Given the description of an element on the screen output the (x, y) to click on. 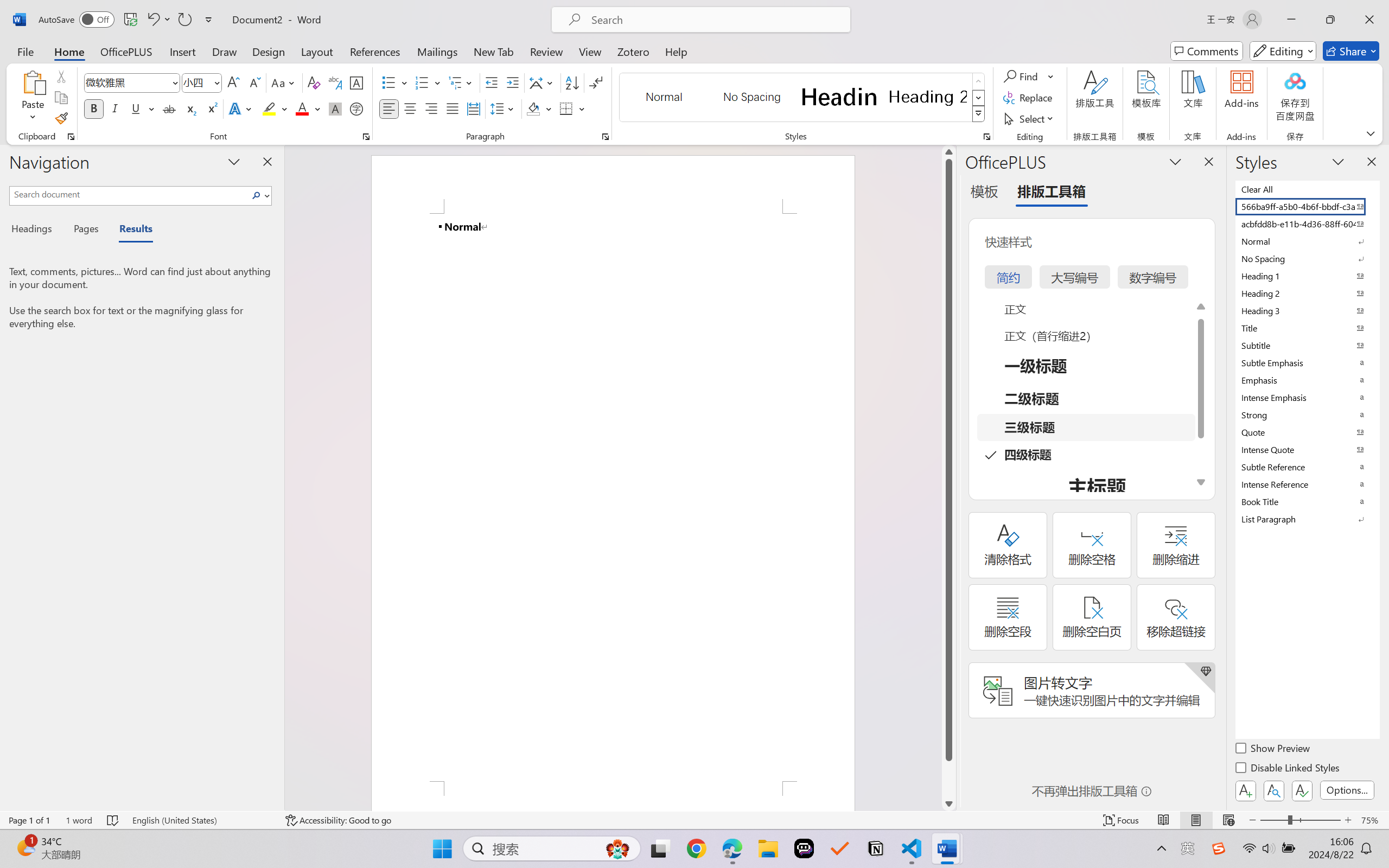
Show Preview (1273, 749)
Title (1306, 327)
Microsoft search (715, 19)
Page 1 content (612, 497)
Normal (1306, 240)
Font (126, 82)
Design (268, 51)
Cut (60, 75)
Paragraph... (605, 136)
Justify (452, 108)
Select (1030, 118)
